Given the description of an element on the screen output the (x, y) to click on. 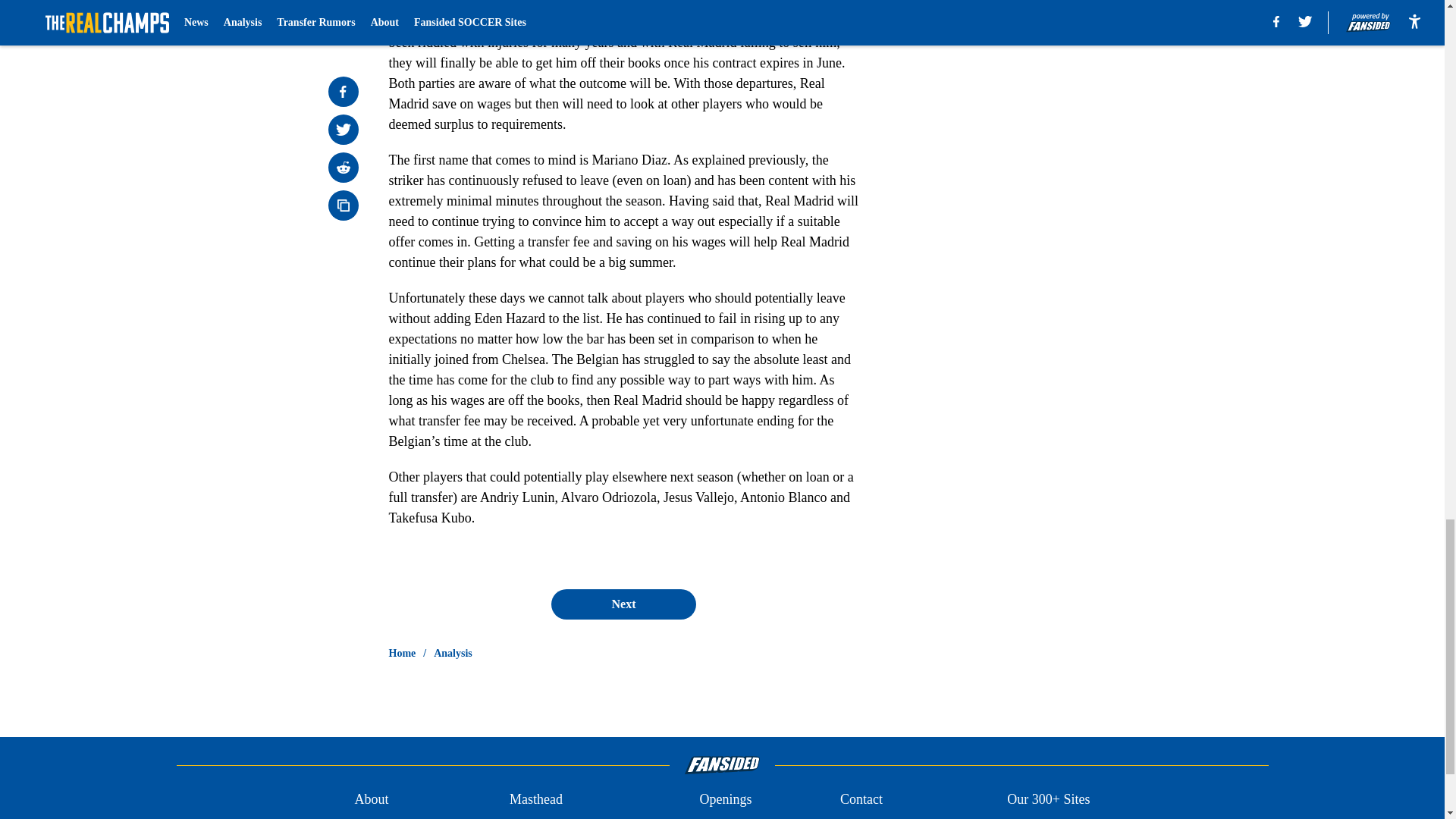
Contact (861, 799)
Next (622, 603)
Pitch a Story (544, 818)
About (370, 799)
FanSided Daily (396, 818)
Openings (724, 799)
Cookie Policy (1045, 818)
Terms of Use (877, 818)
Masthead (535, 799)
Privacy Policy (738, 818)
Home (401, 653)
Analysis (452, 653)
